Given the description of an element on the screen output the (x, y) to click on. 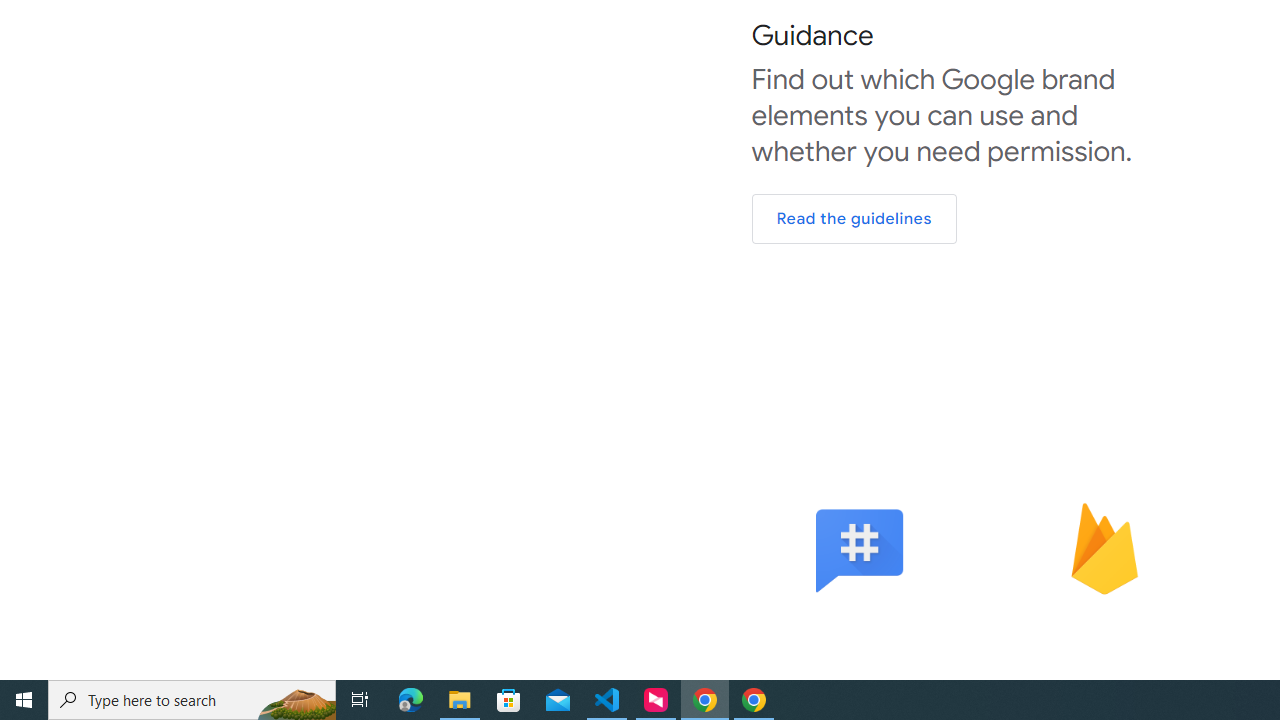
Read the guidelines (854, 218)
